Given the description of an element on the screen output the (x, y) to click on. 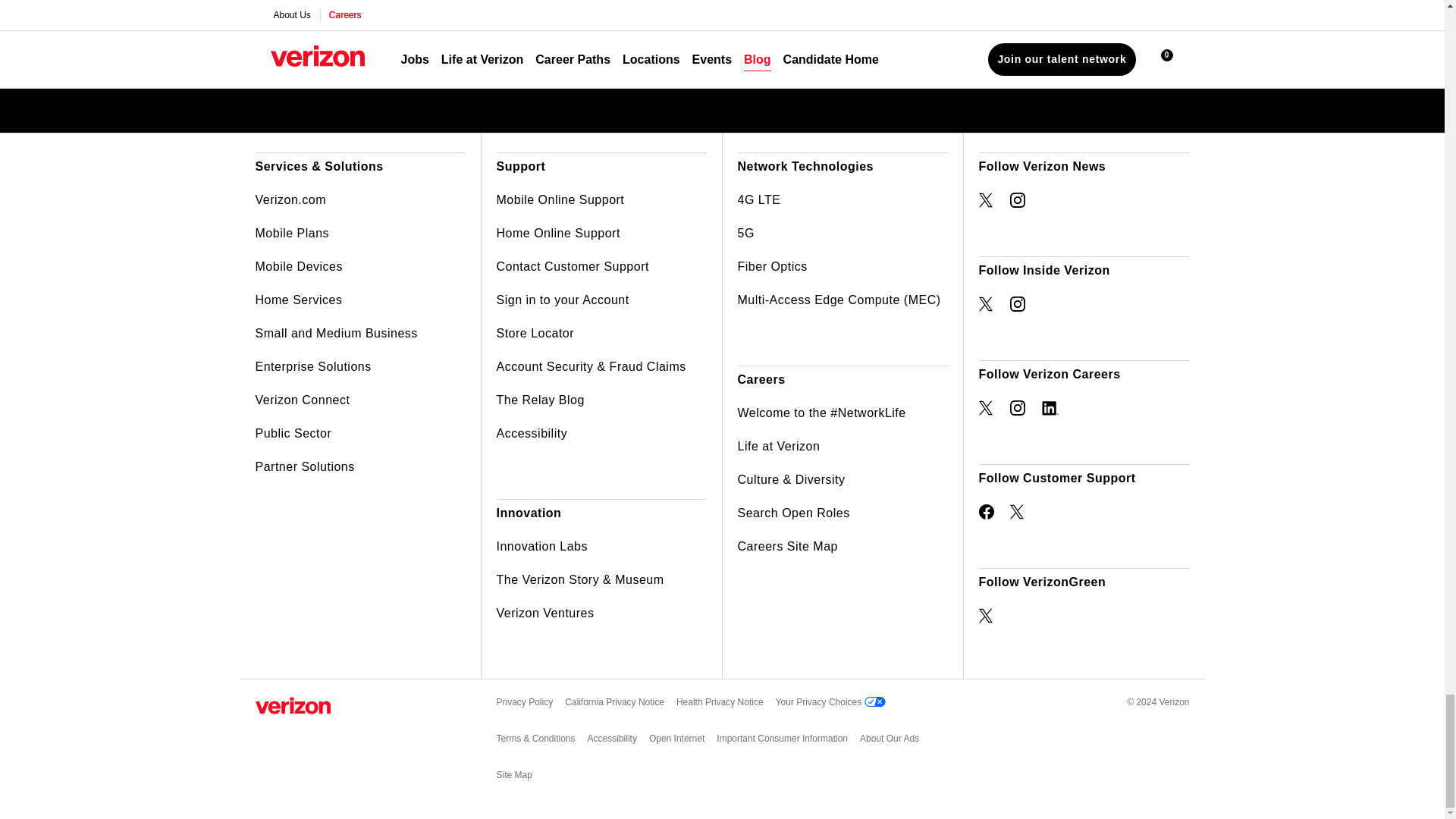
Verizon Home Page (292, 705)
Opens New Window (985, 304)
Opens New Window (985, 407)
Opens New Window (985, 615)
Opens New Window (985, 200)
Opens New Window (1049, 407)
Opens New Window (1017, 407)
Opens New Window (985, 511)
Opens New Window (1017, 511)
Opens New Window (1017, 200)
Opens New Window (1017, 304)
